Given the description of an element on the screen output the (x, y) to click on. 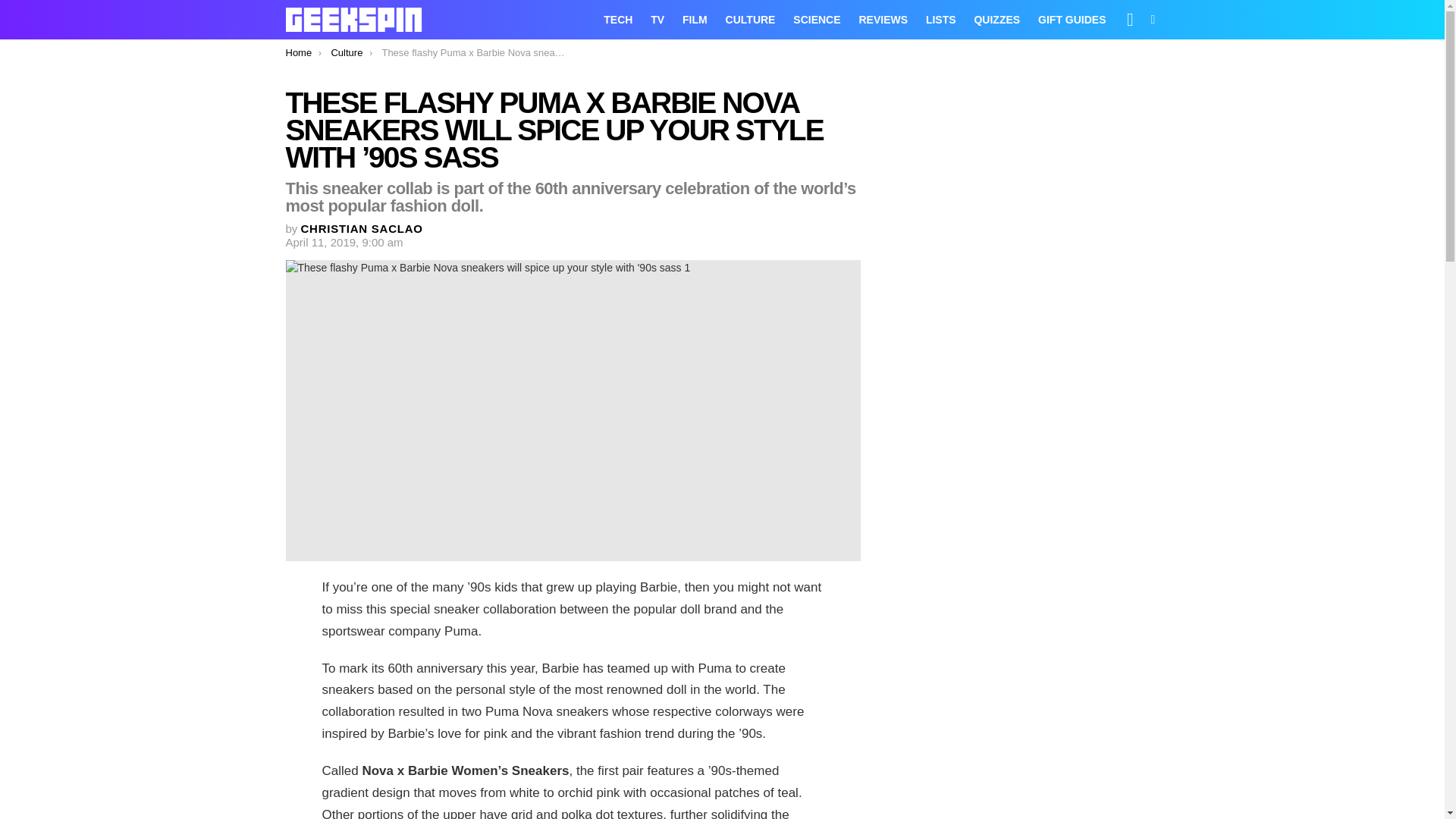
TV (657, 19)
Home (298, 52)
Culture (346, 52)
GIFT GUIDES (1071, 19)
TECH (617, 19)
Posts by Christian Saclao (362, 228)
FILM (694, 19)
CHRISTIAN SACLAO (362, 228)
LISTS (940, 19)
